Given the description of an element on the screen output the (x, y) to click on. 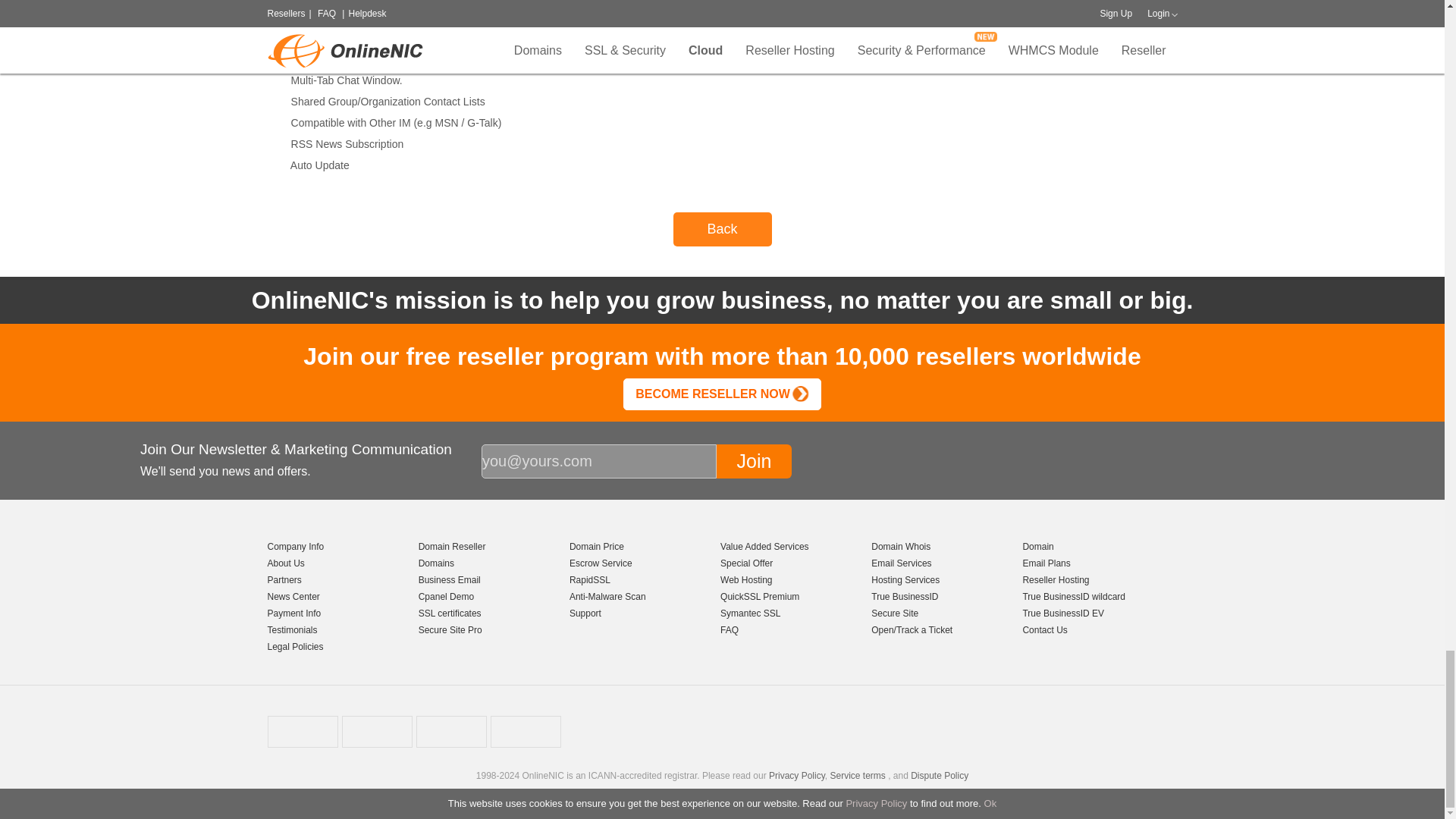
Join (754, 461)
